Given the description of an element on the screen output the (x, y) to click on. 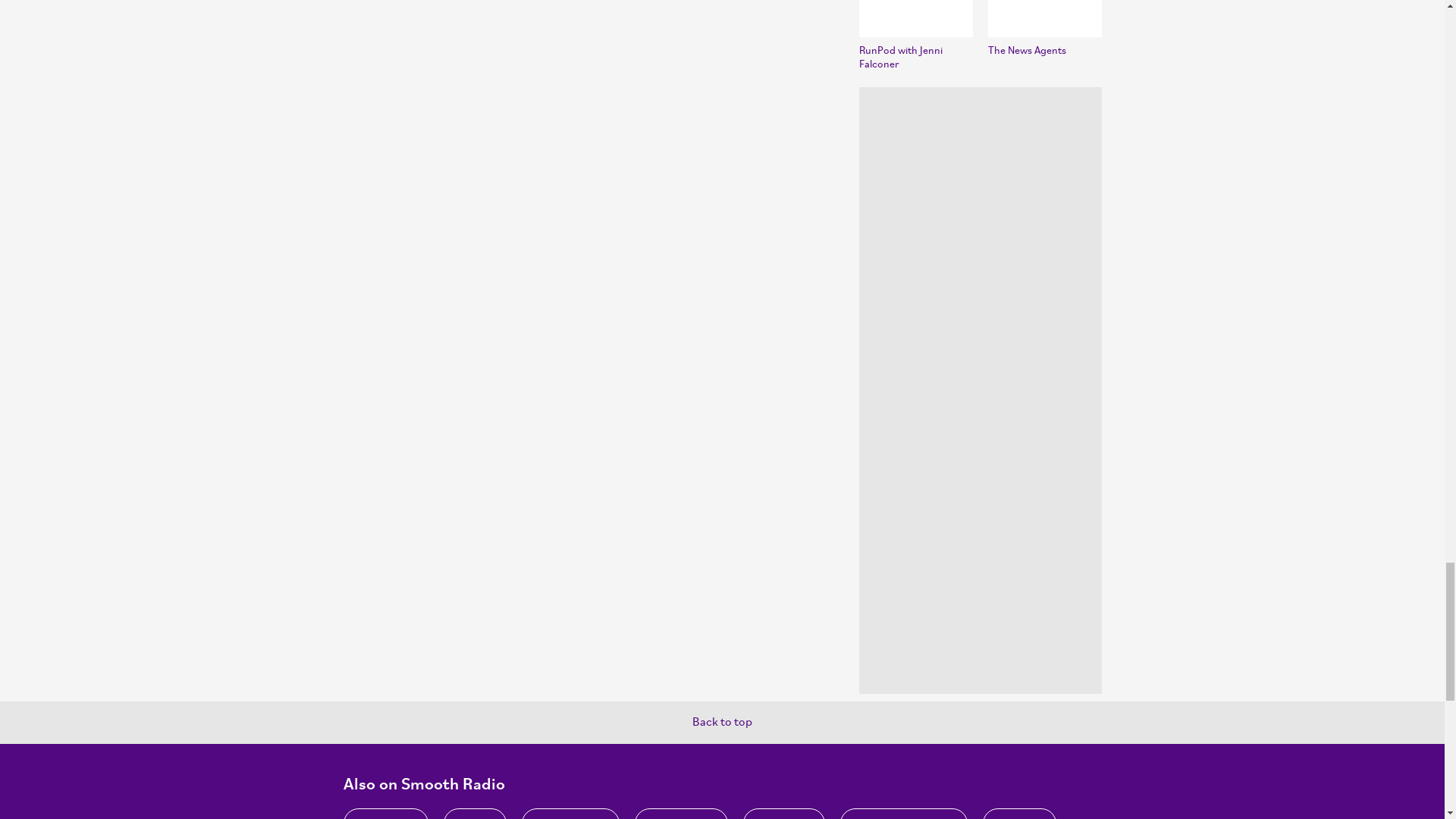
Back to top (722, 722)
